Given the description of an element on the screen output the (x, y) to click on. 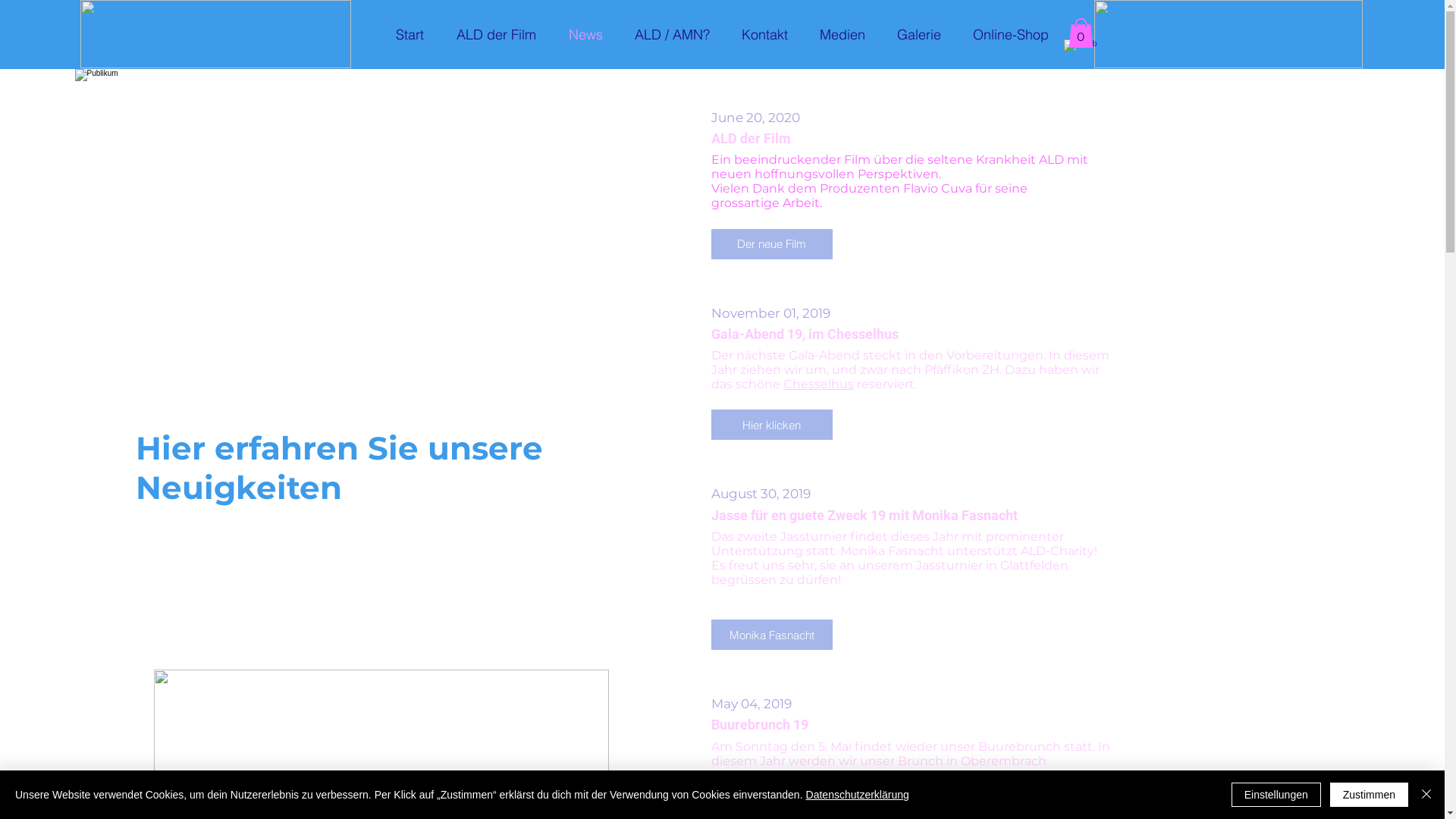
News Element type: text (585, 34)
Monika Fasnacht Element type: text (771, 634)
ALD der Film Element type: text (912, 138)
0 Element type: text (1079, 32)
Medien Element type: text (842, 34)
Zustimmen Element type: text (1369, 794)
Einstellungen Element type: text (1276, 794)
ALD der Film Element type: text (495, 34)
Chesselhus Element type: text (817, 383)
Online-Shop Element type: text (1010, 34)
Galerie Element type: text (919, 34)
Hier klicken Element type: text (771, 424)
Kontakt Element type: text (763, 34)
Der neue Film Element type: text (771, 244)
Start Element type: text (409, 34)
August 30, 2019 Element type: text (912, 493)
ALD / AMN? Element type: text (671, 34)
